Given the description of an element on the screen output the (x, y) to click on. 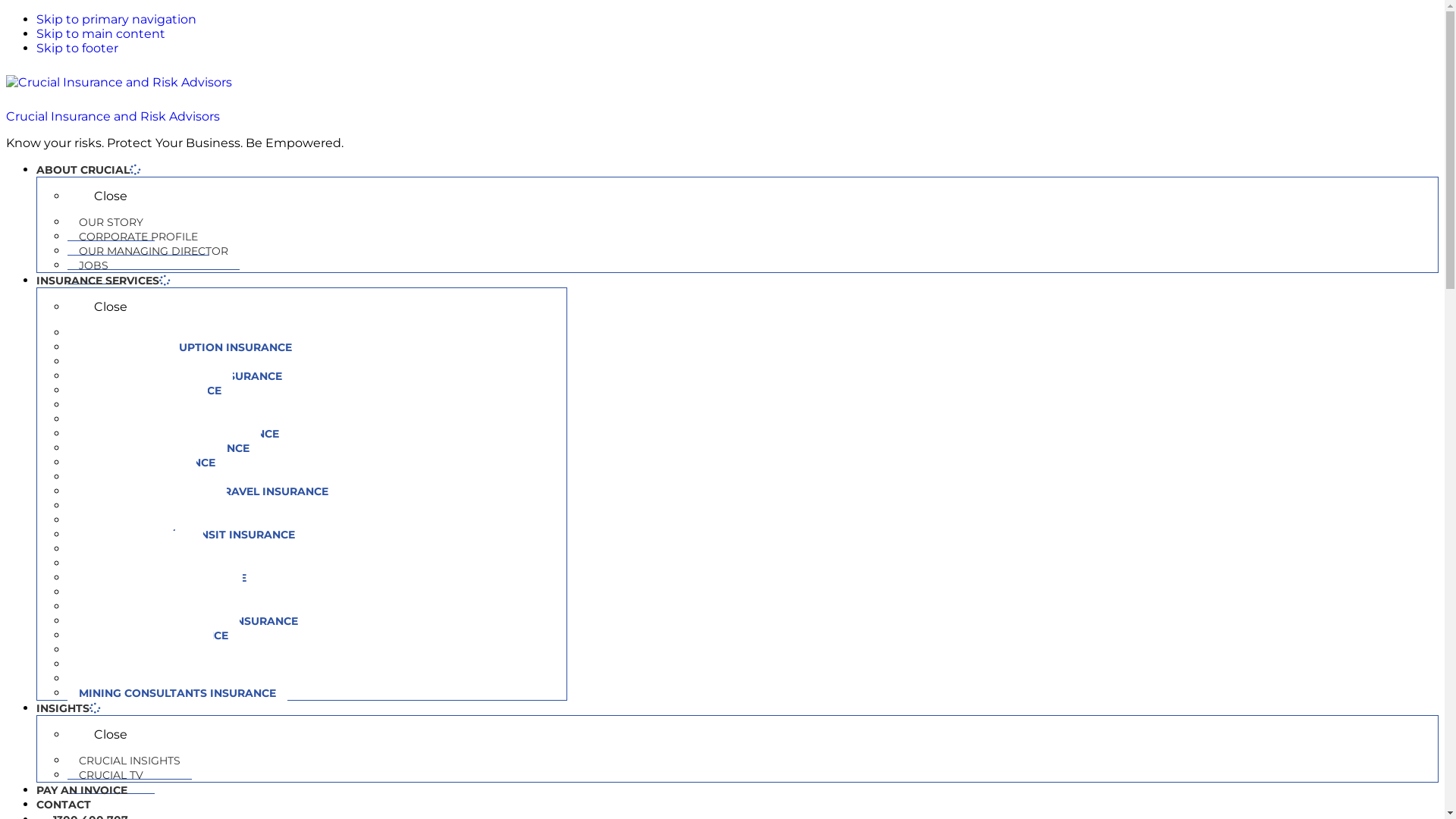
ACCIDENT & HEALTH INSURANCE Element type: text (171, 606)
CRUCIAL INSIGHTS Element type: text (129, 760)
TRADE CREDIT INSURANCE Element type: text (154, 592)
PROFESSIONAL INDEMNITY Element type: text (155, 563)
PUBLIC LIABILITY INSURANCE Element type: text (162, 577)
FARMERS INSURANCE Element type: text (140, 649)
EXPATRIATE MEDICAL & TRAVEL INSURANCE Element type: text (203, 491)
MANAGEMENT LIABILITY INSURANCE Element type: text (182, 520)
DIRECTORS & OFFICERS INSURANCE Element type: text (180, 375)
IPO INSURANCE Element type: text (123, 361)
LABOUR HIRE INSURANCE Element type: text (151, 678)
PAY AN INVOICE Element type: text (81, 790)
Crucial Insurance and Risk Advisors Element type: text (112, 116)
IT LIABILITY INSURANCE Element type: text (146, 462)
MACHINERY INSURANCE Element type: text (146, 505)
OUR STORY Element type: text (110, 222)
MINING CONTRACTORS INSURANCE Element type: text (178, 433)
INSIGHTS Element type: text (68, 708)
CONSTRUCTION INSURANCE Element type: text (158, 419)
CRUCIAL TV Element type: text (110, 774)
BUSINESS INTERRUPTION INSURANCE Element type: text (185, 347)
MARINE CARGO / TRANSIT INSURANCE Element type: text (186, 534)
BUSINESS TRAVEL INSURANCE Element type: text (163, 447)
COMMERCIAL MOTOR Element type: text (139, 664)
PARAMETRIC INSURANCE Element type: text (149, 390)
AGED & COMMUNITY CARE INSURANCE Element type: text (188, 620)
CORPORATE PROFILE Element type: text (138, 236)
Skip to main content Element type: text (100, 33)
OUR MANAGING DIRECTOR Element type: text (153, 250)
BUSINESS INSURANCE Element type: text (141, 332)
ELECTRICIANS INSURANCE Element type: text (153, 635)
Skip to primary navigation Element type: text (116, 19)
CYBER INSURANCE Element type: text (131, 476)
CAPTIVE INSURANCE Element type: text (137, 404)
JOBS Element type: text (93, 265)
MINING CONSULTANTS INSURANCE Element type: text (177, 692)
PRODUCT LIABILITY Element type: text (135, 548)
Skip to footer Element type: text (77, 47)
CONTACT Element type: text (63, 804)
